Given the description of an element on the screen output the (x, y) to click on. 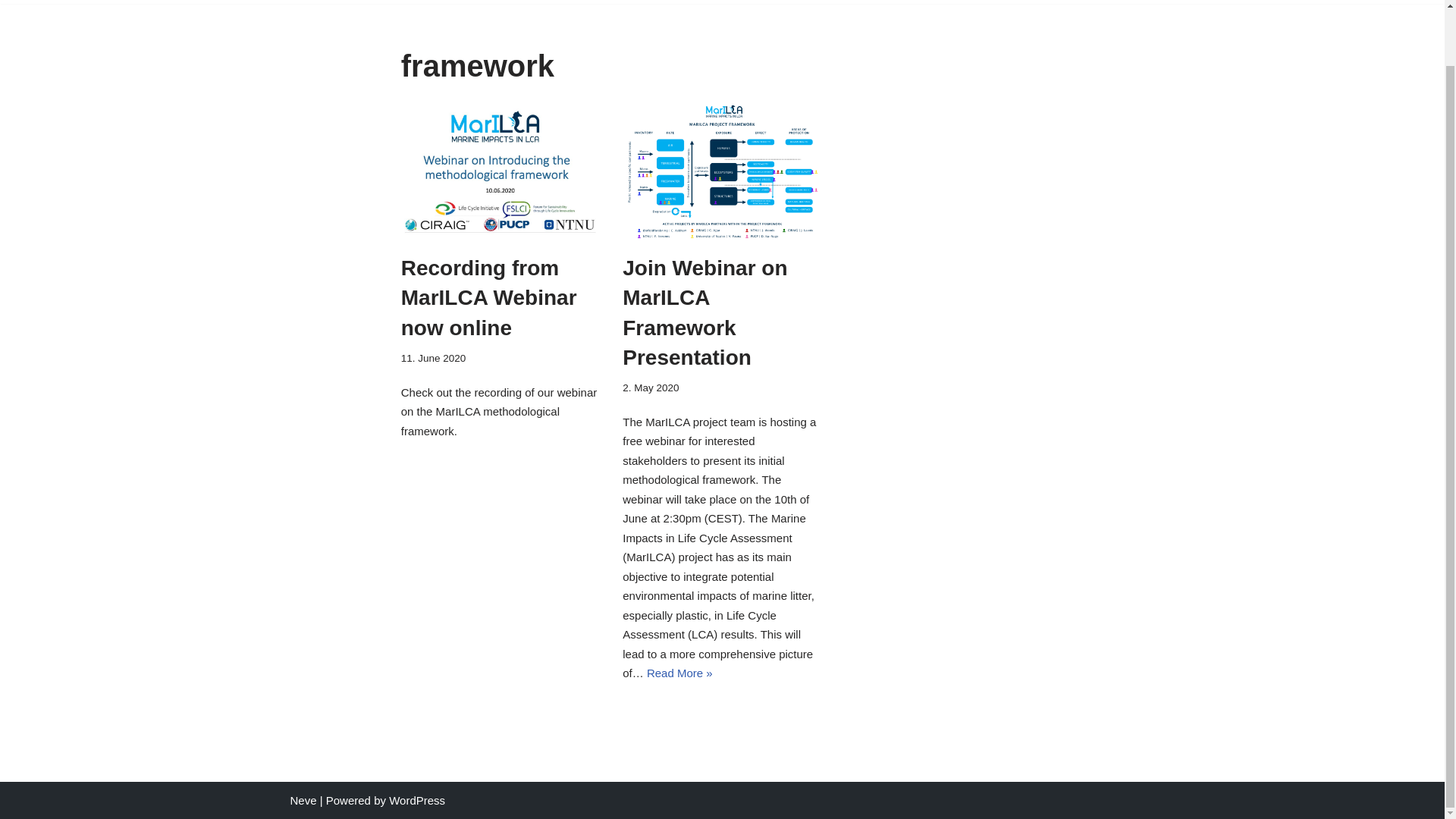
Recording from MarILCA Webinar now online (500, 171)
Join Webinar on MarILCA Framework Presentation (705, 312)
WordPress (416, 799)
Neve (302, 799)
Join Webinar on MarILCA Framework Presentation (722, 171)
Recording from MarILCA Webinar now online (488, 297)
